Given the description of an element on the screen output the (x, y) to click on. 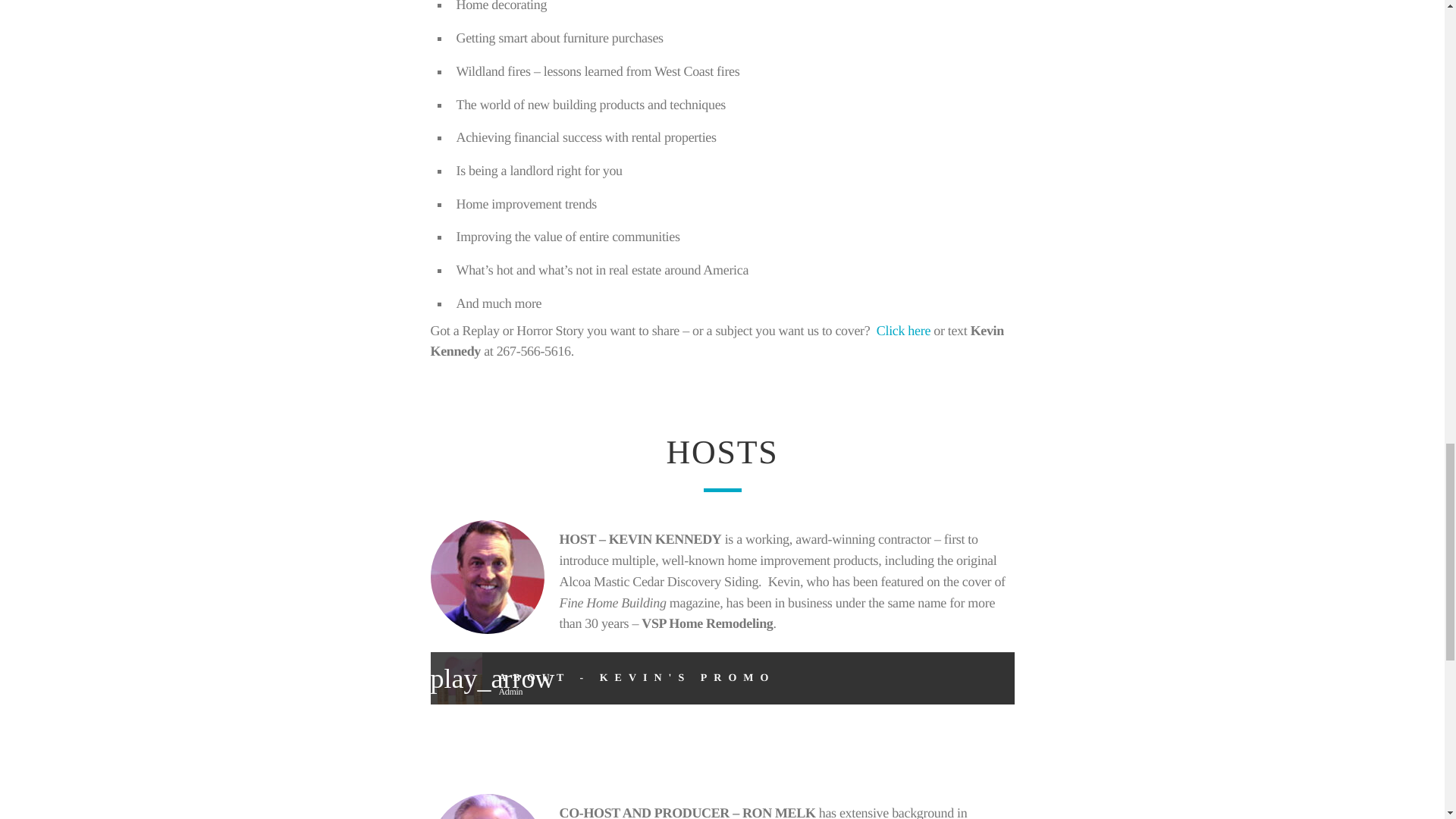
Click here (903, 330)
